Given the description of an element on the screen output the (x, y) to click on. 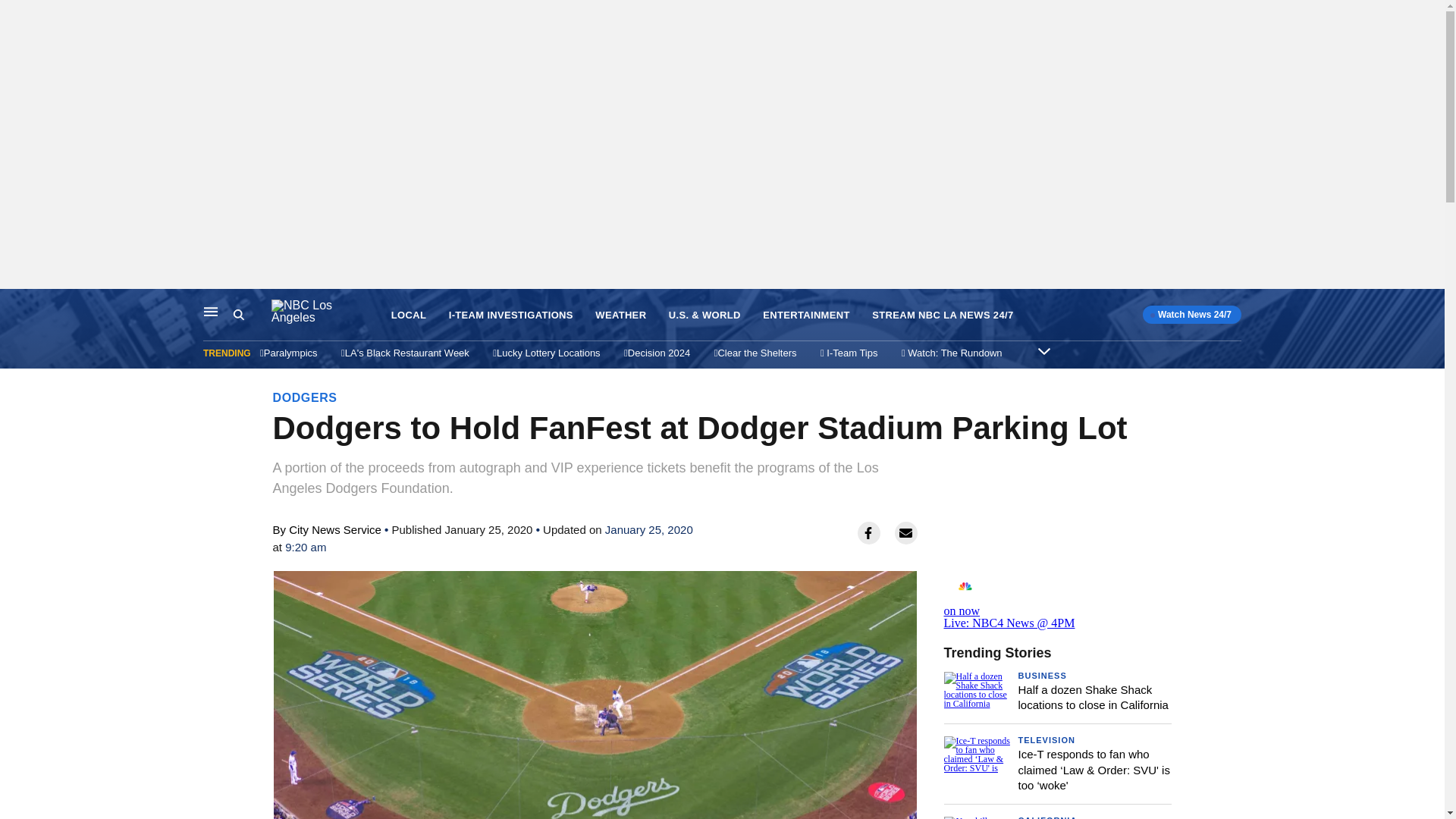
Main Navigation (210, 311)
DODGERS (305, 397)
Search (238, 314)
ENTERTAINMENT (806, 315)
BUSINESS (1041, 675)
LOCAL (408, 315)
Expand (1043, 350)
WEATHER (620, 315)
Skip to content (16, 304)
I-TEAM INVESTIGATIONS (510, 315)
